Given the description of an element on the screen output the (x, y) to click on. 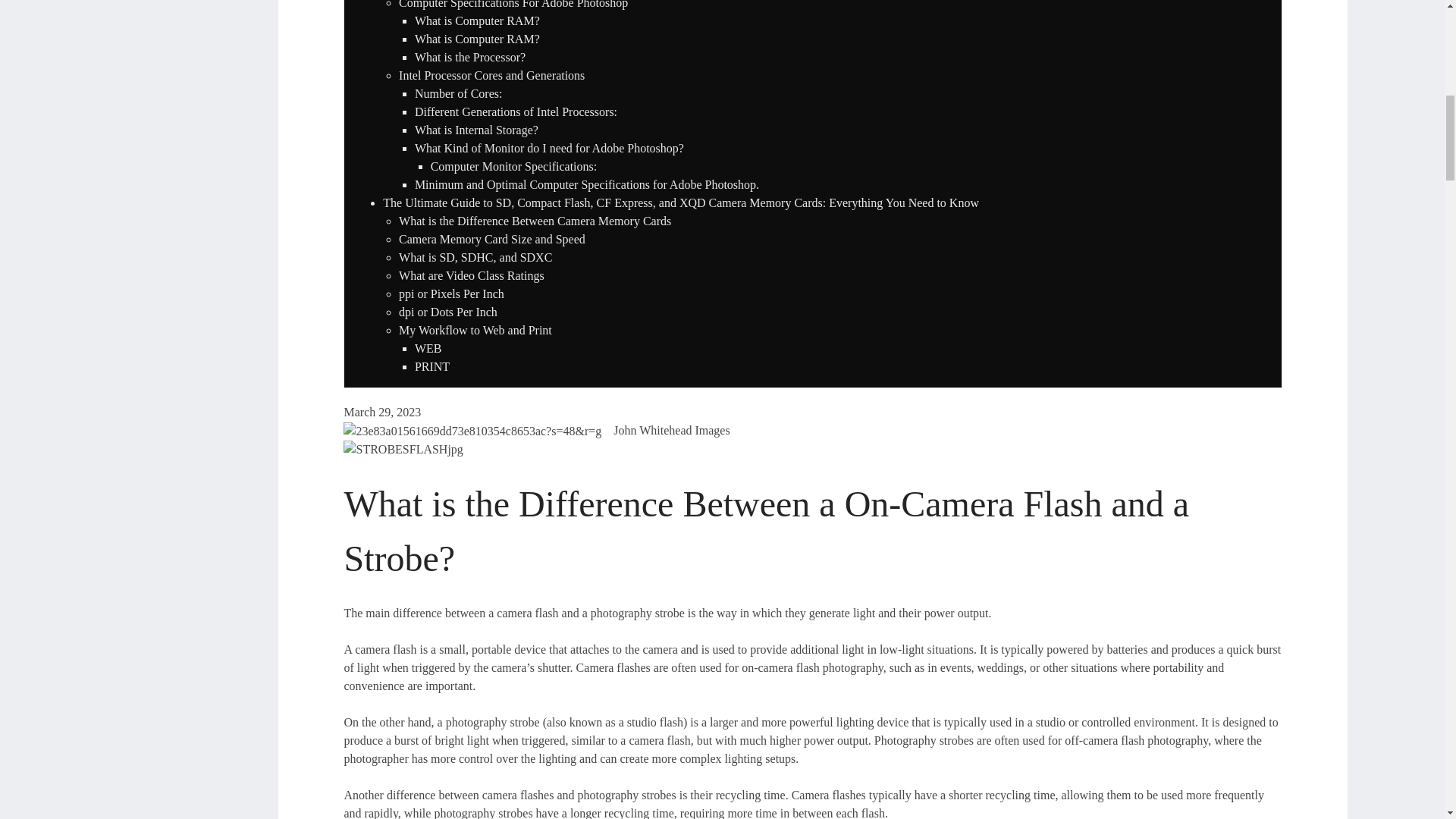
The Ultimate Guide to Flash Photography and Strobes 2 (403, 449)
The Ultimate Guide to Flash Photography and Strobes 1 (472, 431)
